Given the description of an element on the screen output the (x, y) to click on. 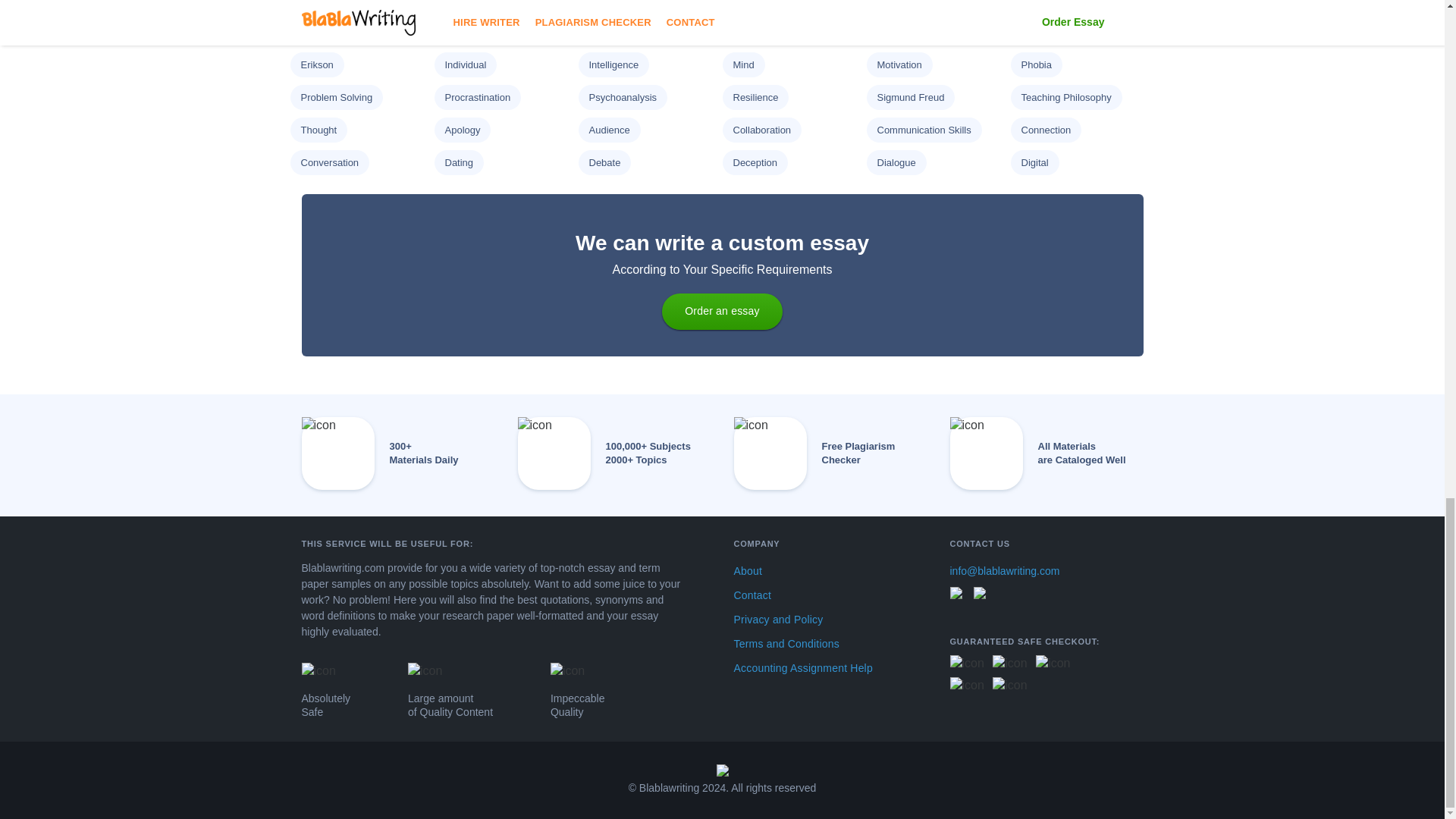
Authority (751, 2)
Behavior (895, 2)
Body Image (1046, 2)
Abraham Maslow (337, 2)
Bystander (322, 31)
Archetype (610, 2)
Andrew Carnegie (481, 2)
